Given the description of an element on the screen output the (x, y) to click on. 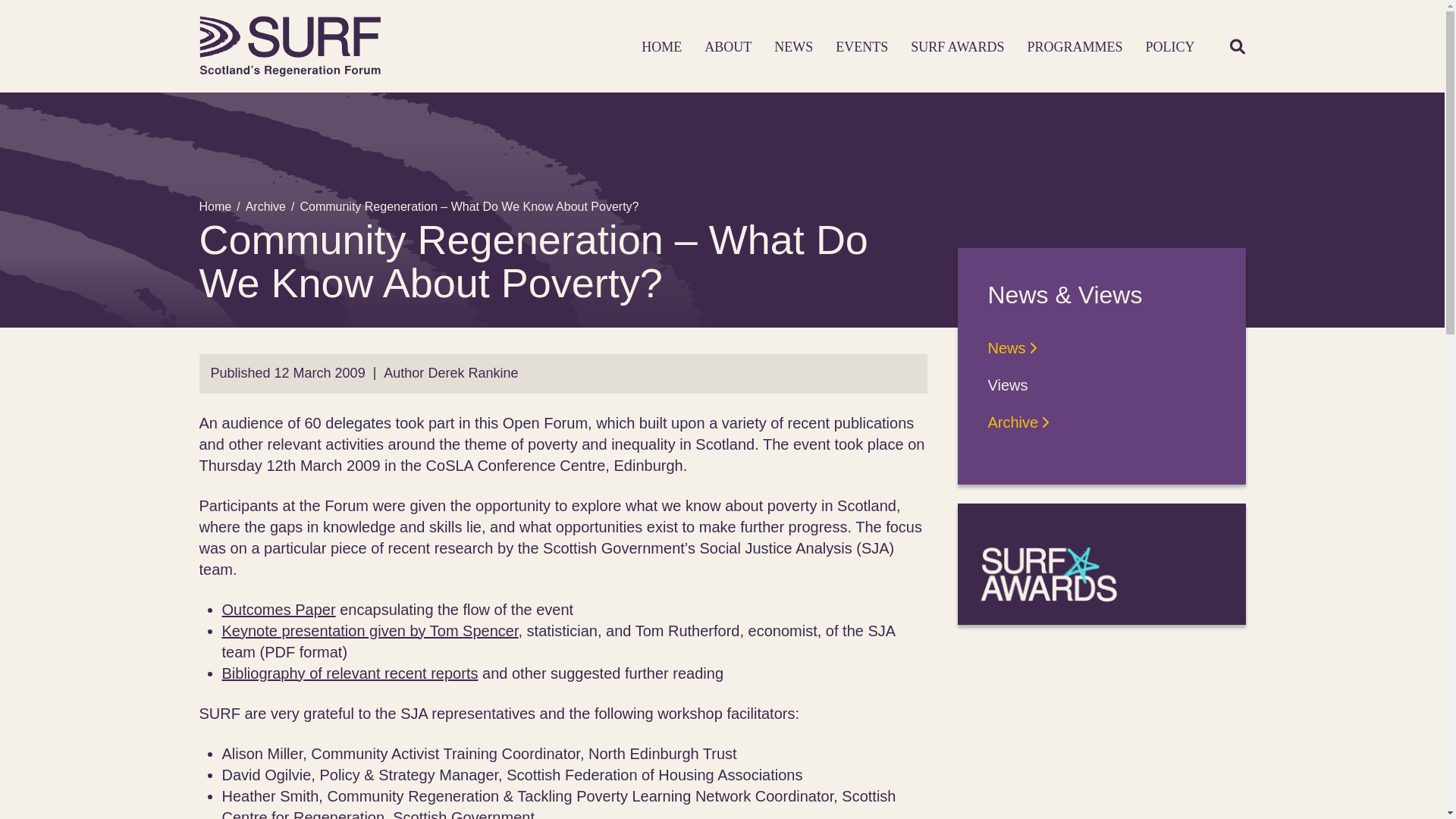
EVENTS (861, 46)
SURF AWARDS (957, 46)
Go to the Archive Category archives. (265, 205)
PROGRAMMES (1074, 46)
Keynote presentation given by Tom Spencer (369, 630)
ABOUT (727, 46)
NEWS (793, 46)
Bibliography of relevant recent reports (349, 673)
Archive (1018, 422)
Archive (265, 205)
Views (1007, 384)
News (1011, 347)
Outcomes Paper (277, 609)
HOME (661, 46)
Home (214, 205)
